Given the description of an element on the screen output the (x, y) to click on. 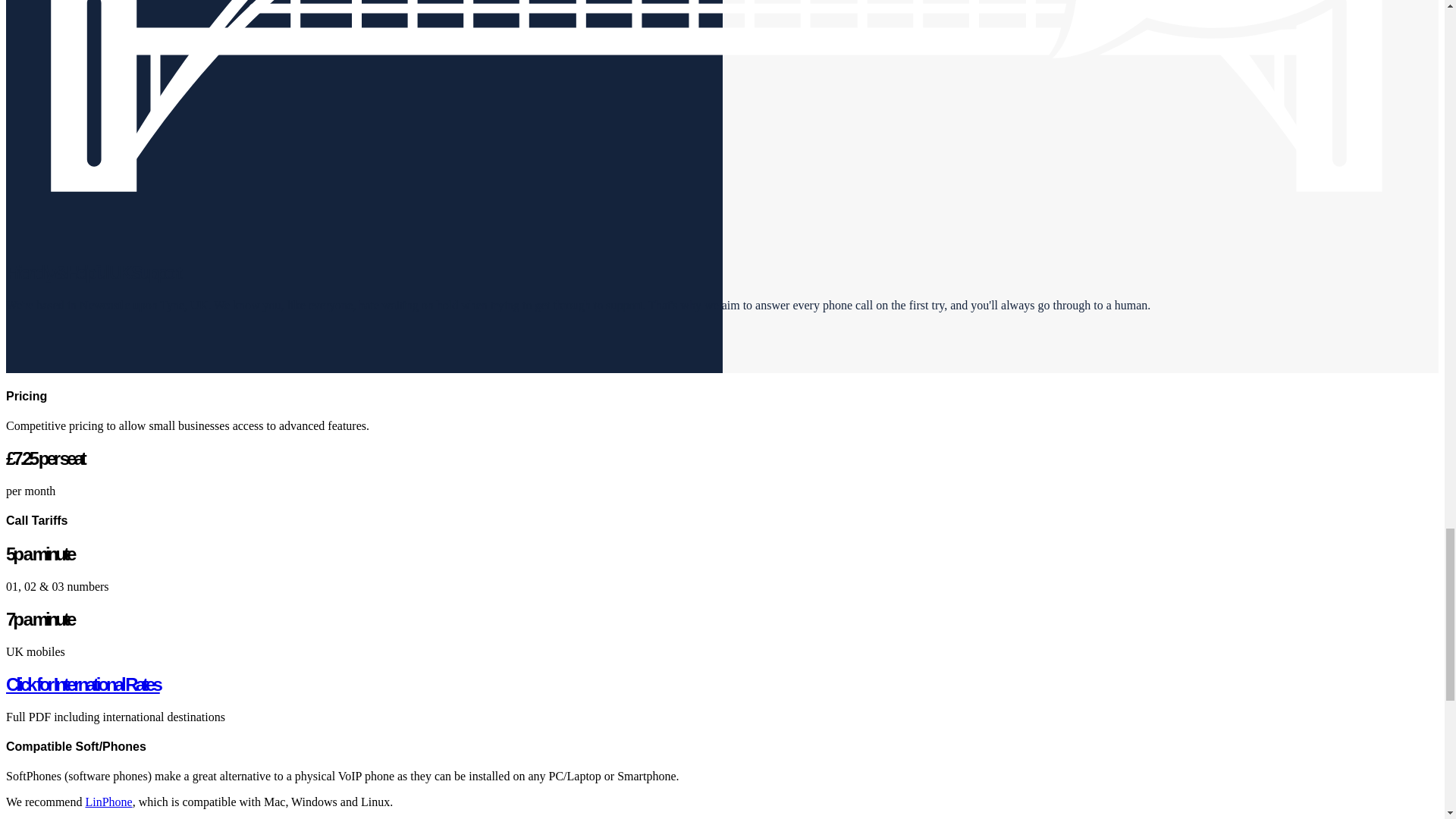
Click for International Rates (82, 684)
LinPhone (108, 801)
